Given the description of an element on the screen output the (x, y) to click on. 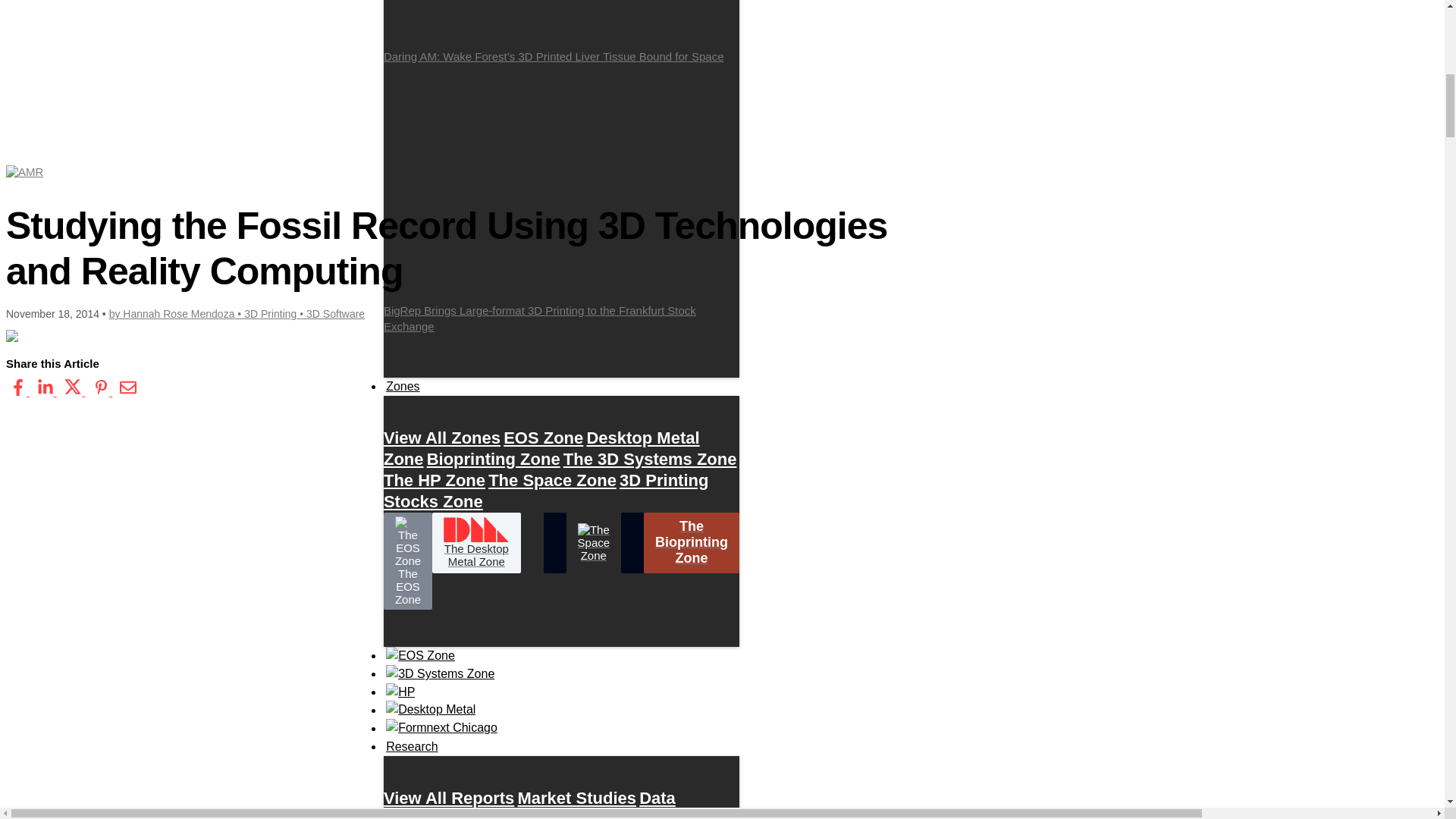
The Desktop Metal Zone (475, 542)
EOS Zone (543, 437)
The HP Zone (434, 480)
The 3D Systems Zone (649, 458)
Zones (403, 386)
Bioprinting Zone (493, 458)
View All Zones (442, 437)
3D Printing Stocks Zone (545, 490)
The Space Zone (551, 480)
Desktop Metal Zone (542, 448)
